Given the description of an element on the screen output the (x, y) to click on. 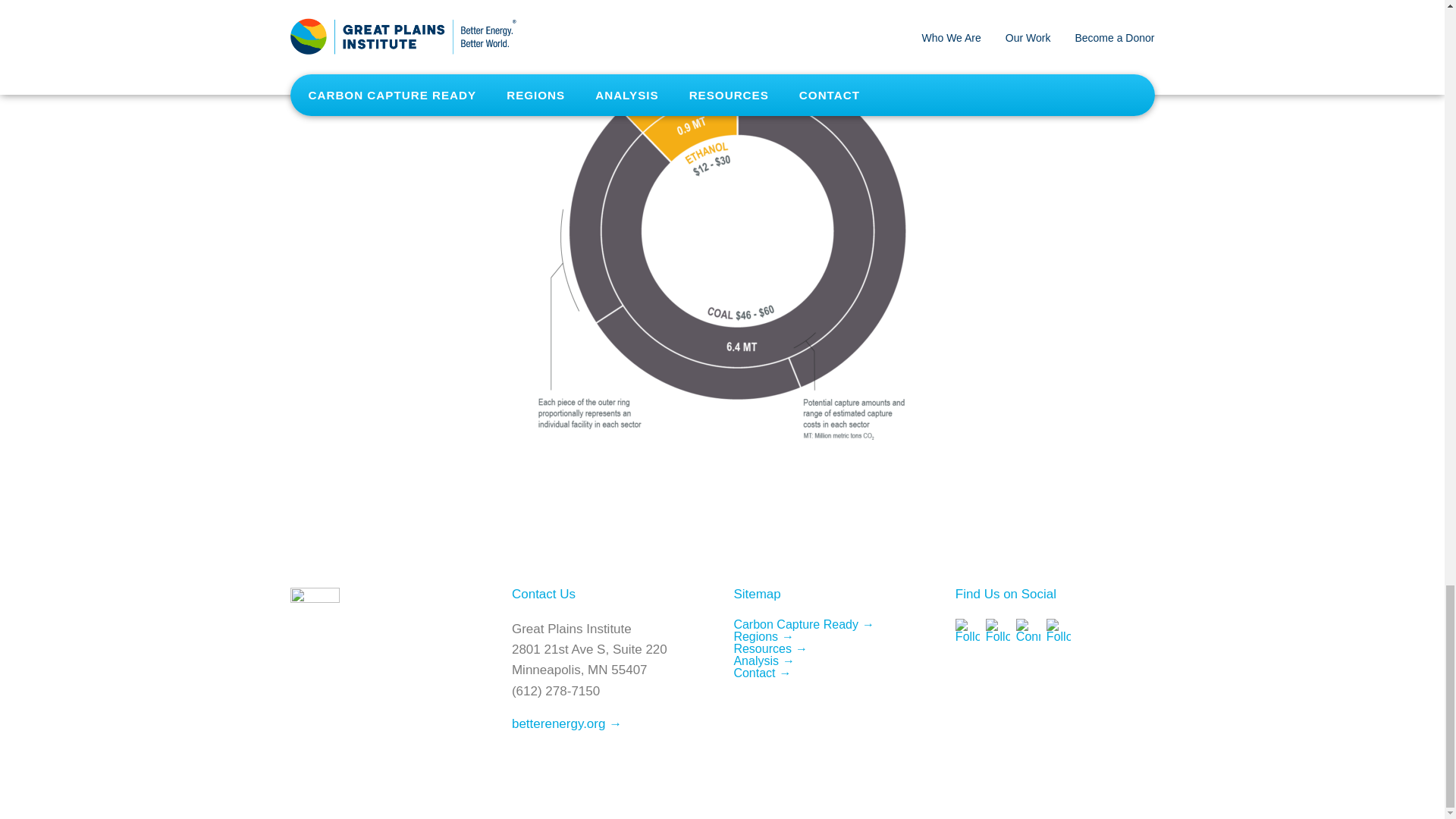
Contact (761, 672)
Carbon Capture Ready (804, 624)
Contact Us (543, 594)
Follow us on Twitter (997, 630)
Follow us on YouTube (1058, 630)
Resources (769, 648)
Connect with us on LinkedIn (1028, 630)
Follow us on Facebook (967, 630)
Analysis (763, 660)
Regions (763, 635)
